Given the description of an element on the screen output the (x, y) to click on. 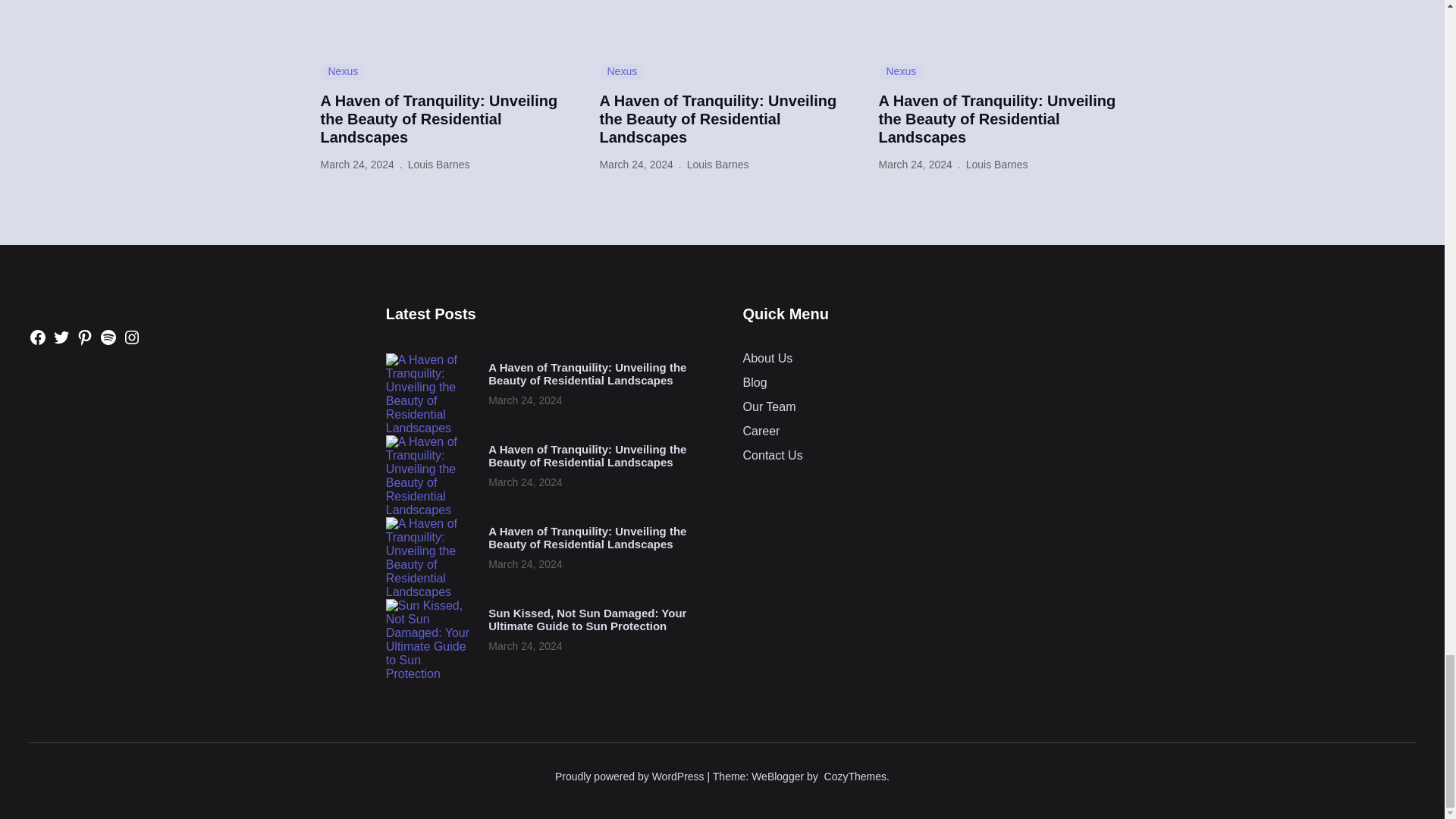
Nexus (342, 71)
Facebook (37, 337)
Twitter (60, 337)
Spotify (108, 337)
Nexus (621, 71)
Nexus (900, 71)
Instagram (131, 337)
